Given the description of an element on the screen output the (x, y) to click on. 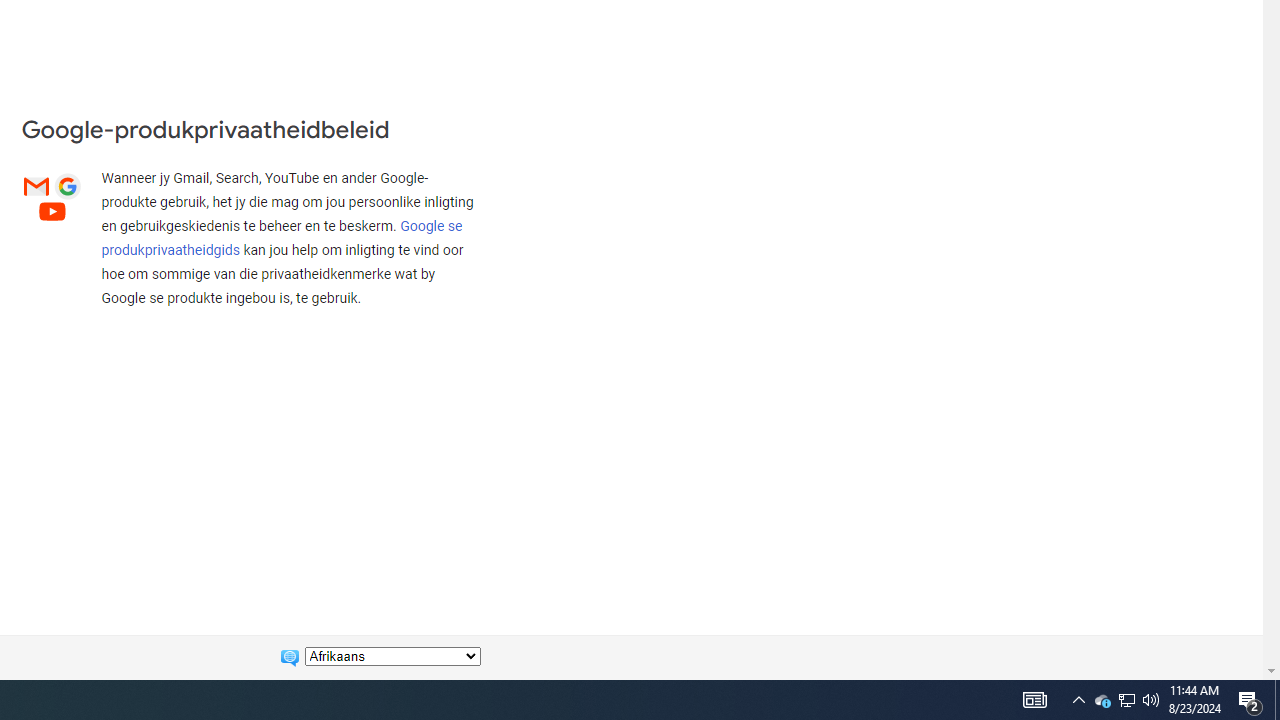
Verander taal: (392, 656)
Google se produkprivaatheidgids (282, 237)
